Given the description of an element on the screen output the (x, y) to click on. 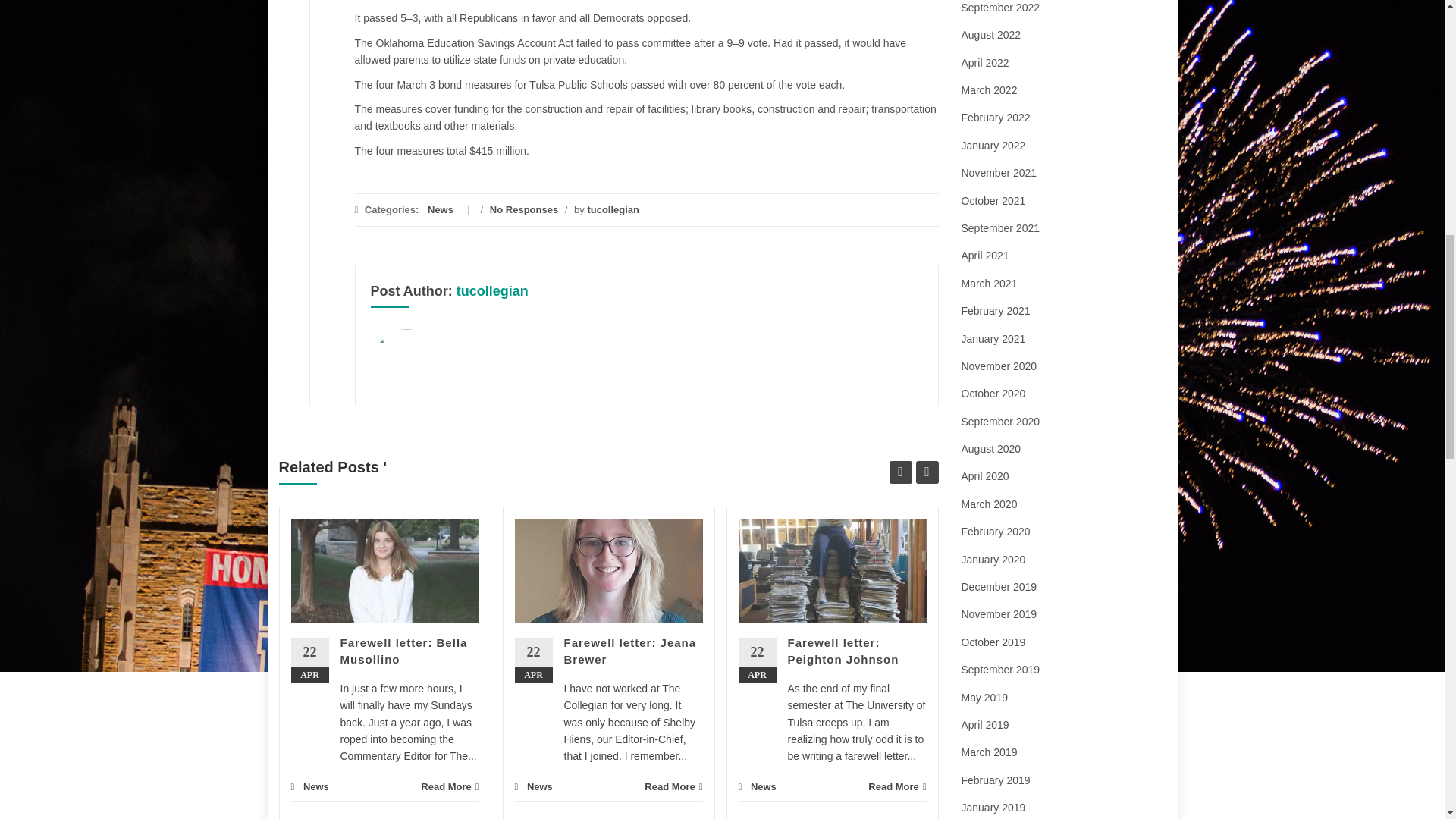
News (440, 209)
No Responses (523, 209)
Read More (449, 786)
Farewell letter: Bella Musollino (403, 651)
tucollegian (612, 209)
News (315, 786)
tucollegian (492, 290)
